Given the description of an element on the screen output the (x, y) to click on. 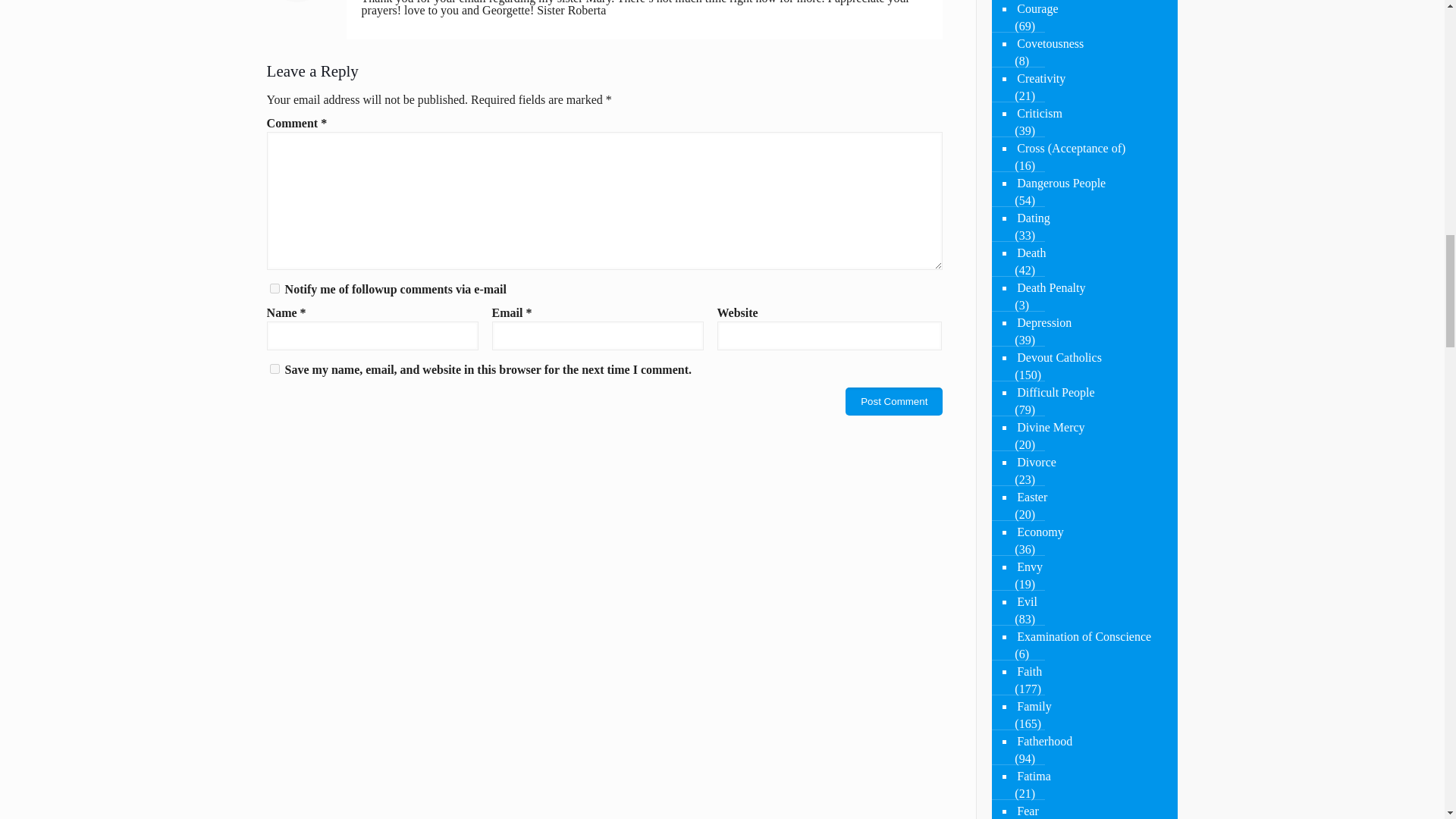
subscribe (274, 288)
Post Comment (893, 401)
yes (274, 368)
